Given the description of an element on the screen output the (x, y) to click on. 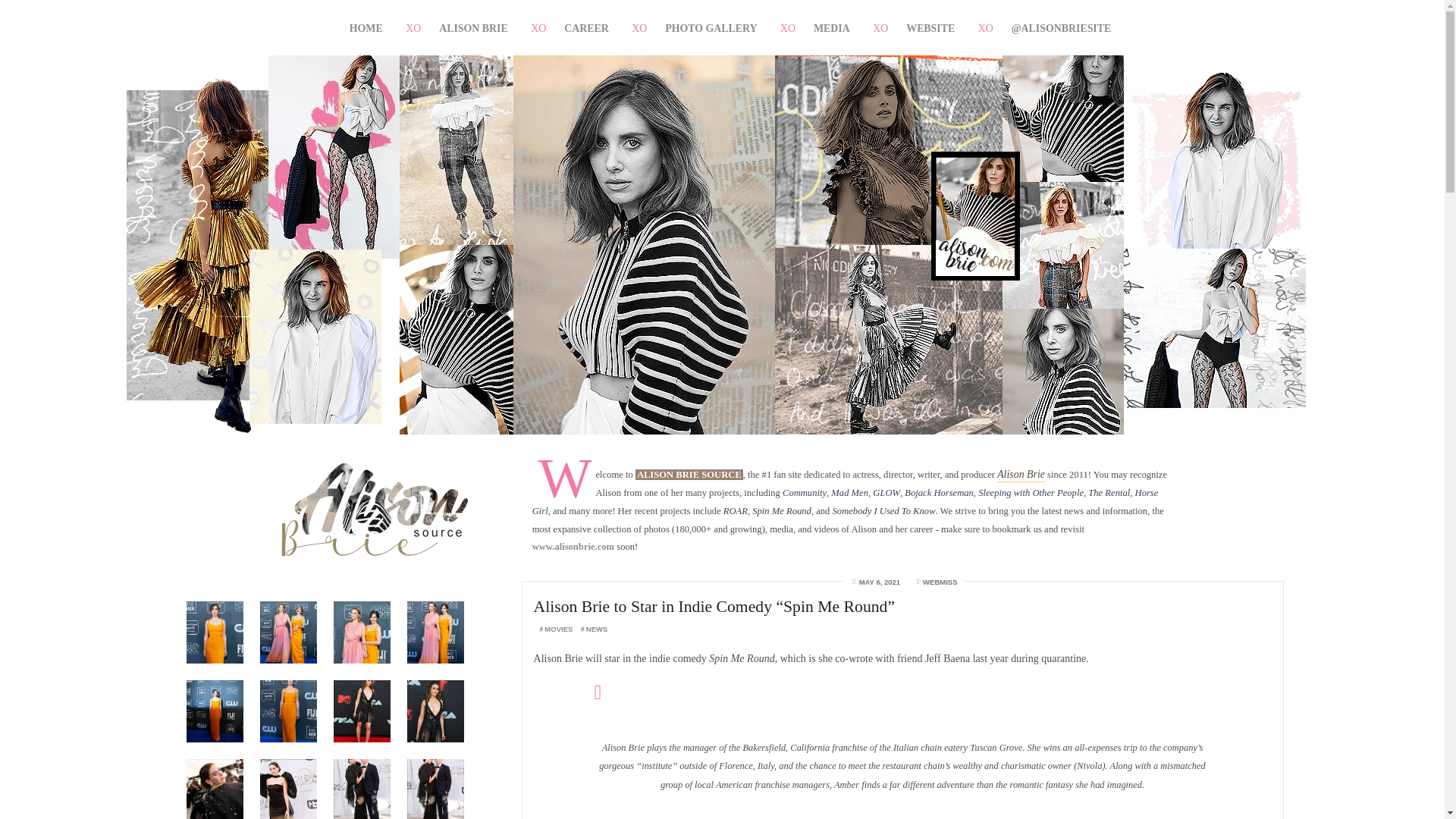
0001.jpg (361, 710)
0002.jpg (435, 710)
ALISON BRIE (473, 28)
www.alisonbrie.com (573, 546)
0004.jpg (288, 632)
0003.jpg (214, 632)
0010.jpg (361, 786)
CAREER (586, 28)
0005.jpg (361, 632)
PHOTO GALLERY (710, 28)
WEBSITE (930, 28)
0011.jpg (435, 786)
HOME (365, 28)
0009.jpg (288, 786)
0002.jpg (214, 710)
